Given the description of an element on the screen output the (x, y) to click on. 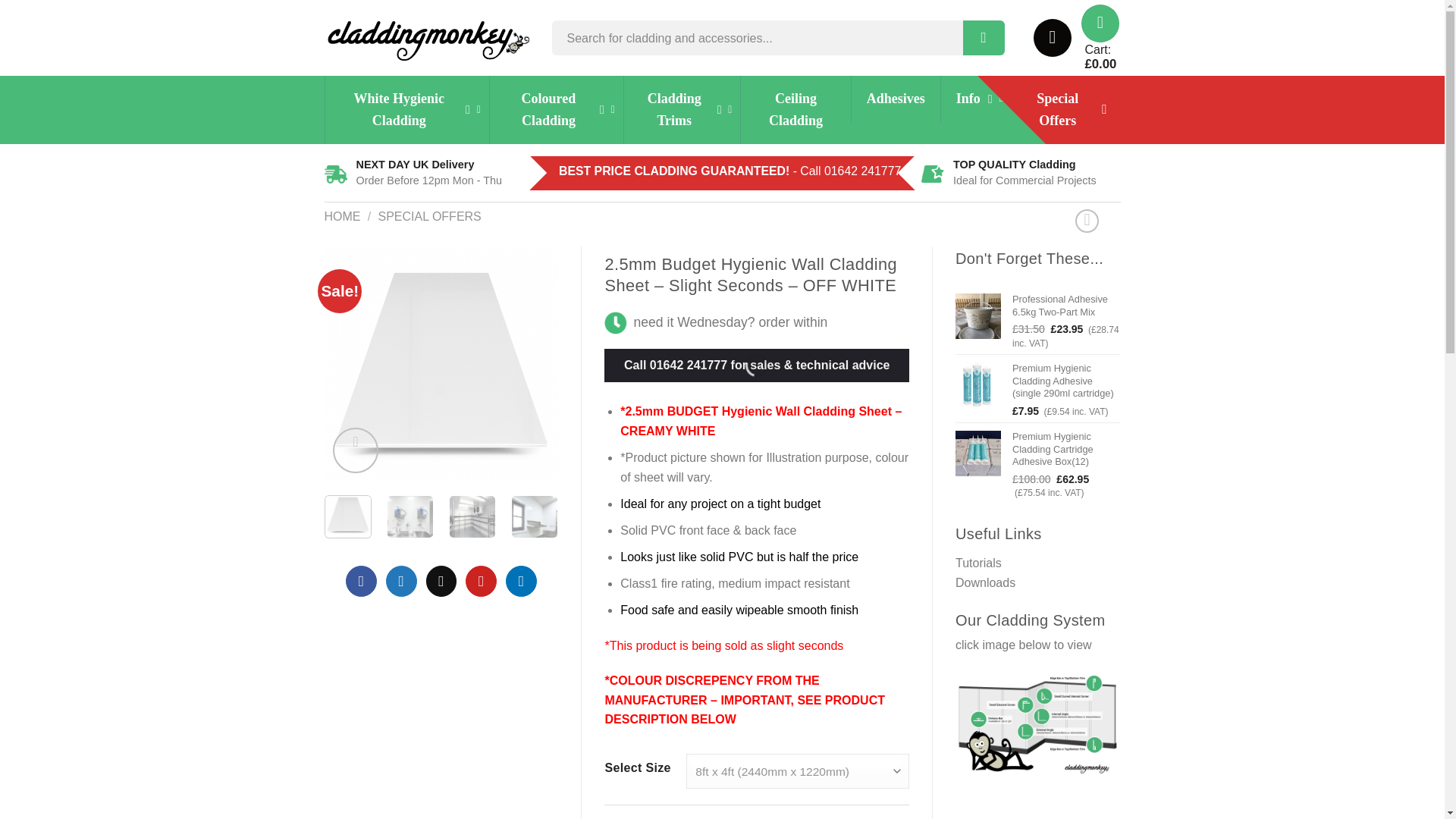
Share on Facebook (361, 581)
Pin on Pinterest (480, 581)
Professional Adhesive 6.5kg Two-Part Mix (1066, 305)
Basket (1100, 23)
Zoom (355, 450)
Email to a Friend (441, 581)
White Hygienic Cladding (406, 110)
Search (983, 37)
Share on Twitter (400, 581)
Share on LinkedIn (521, 581)
